Given the description of an element on the screen output the (x, y) to click on. 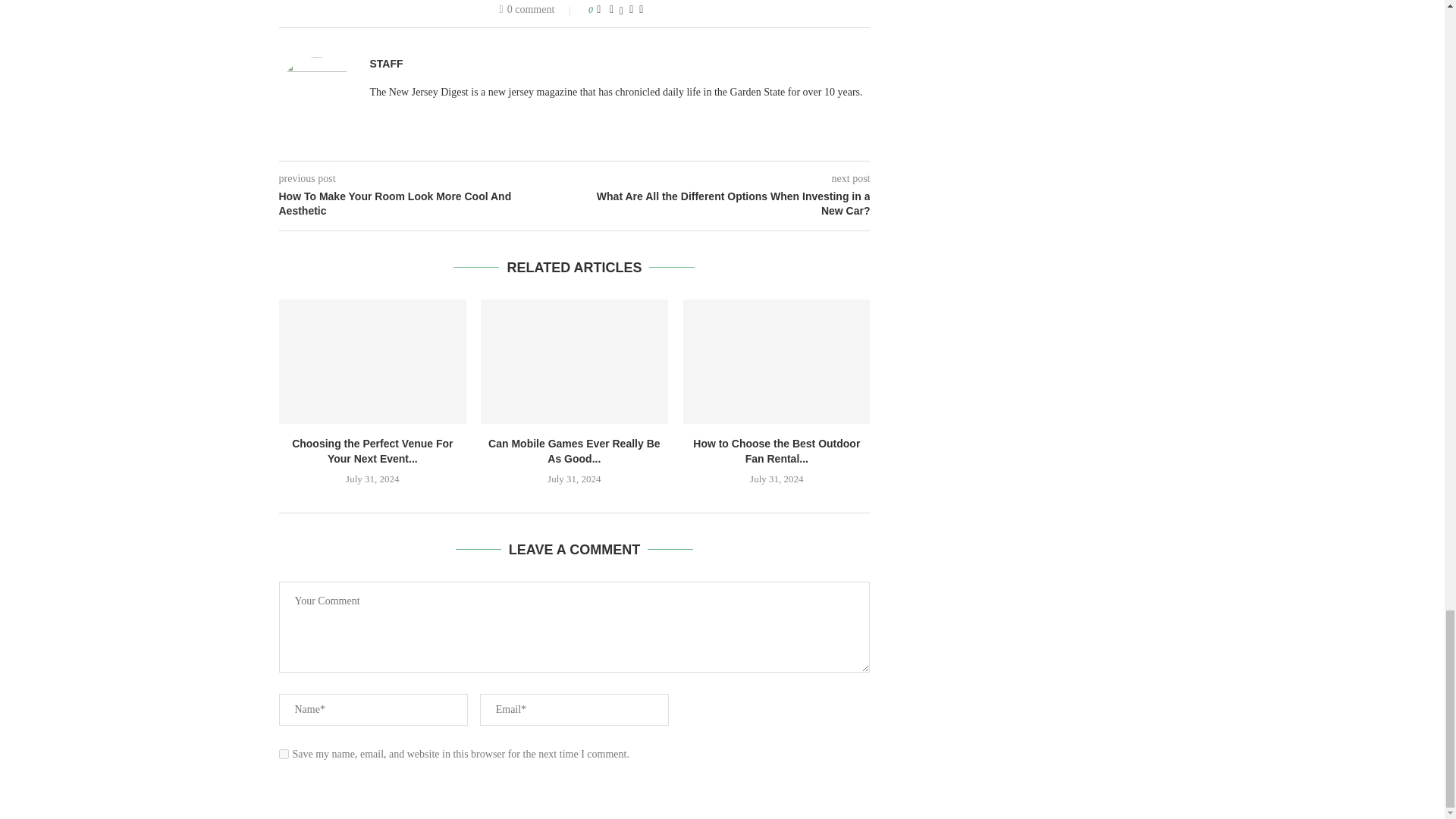
Author Staff (386, 63)
Choosing the Perfect Venue For Your Next Event in Chicago (372, 361)
yes (283, 754)
How to Choose the Best Outdoor Fan Rental for Your Event (776, 361)
Can Mobile Games Ever Really Be As Good As Video Games? (574, 361)
